Given the description of an element on the screen output the (x, y) to click on. 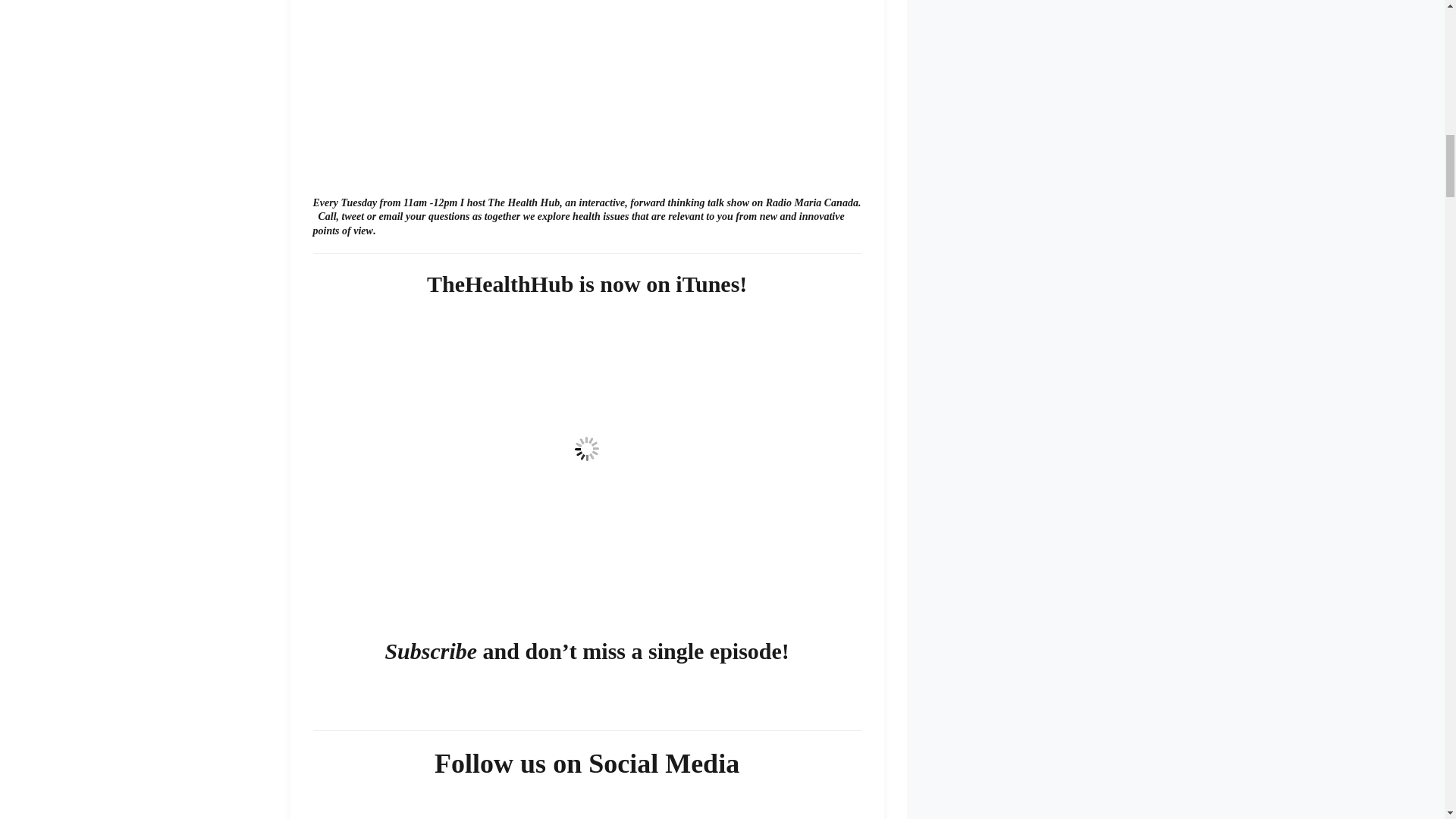
Radio Maria Canada (812, 202)
Subscribe (430, 650)
